Given the description of an element on the screen output the (x, y) to click on. 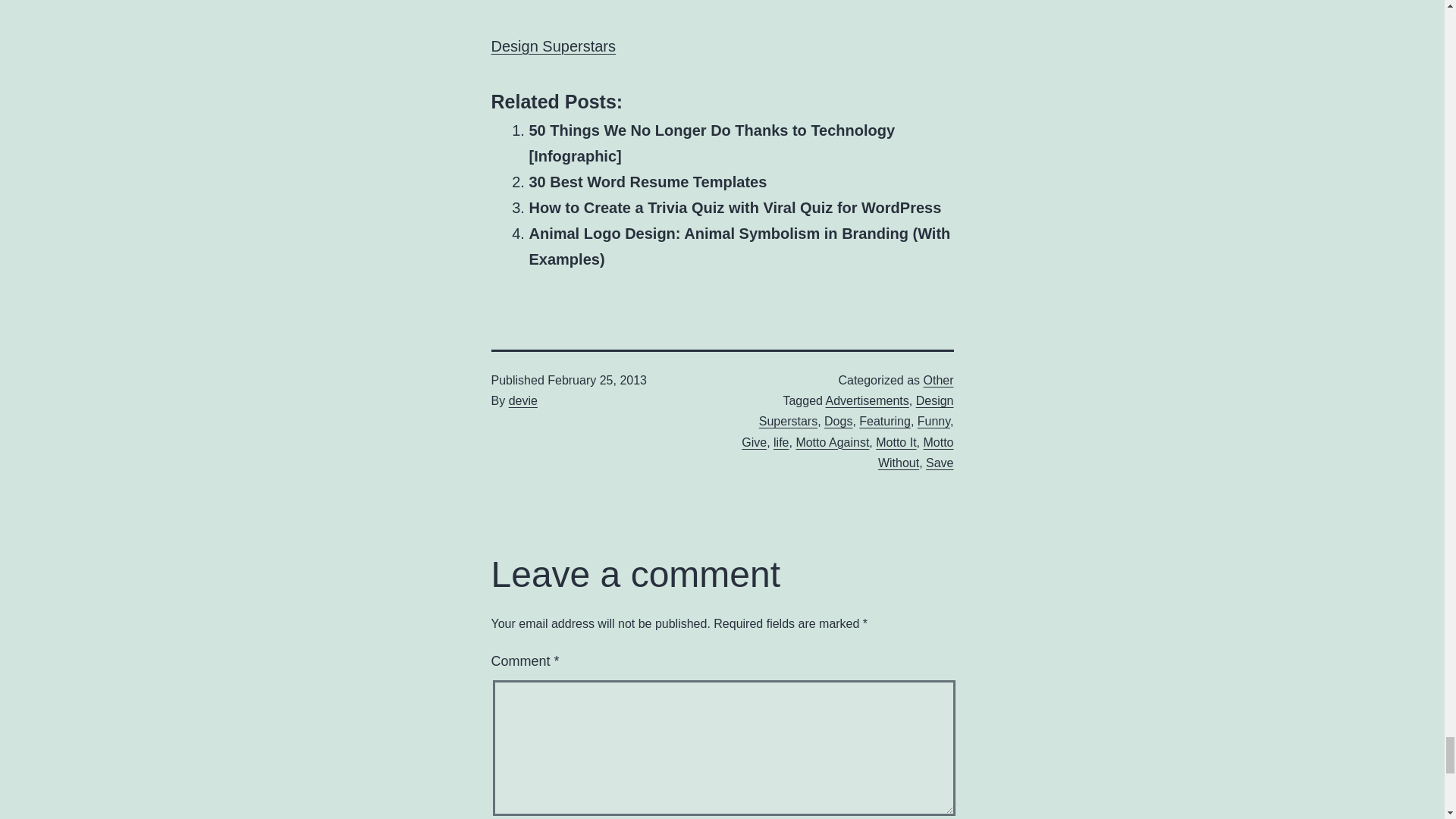
How to Create a Trivia Quiz with Viral Quiz for WordPress (735, 207)
30 Best Word Resume Templates (648, 181)
